Given the description of an element on the screen output the (x, y) to click on. 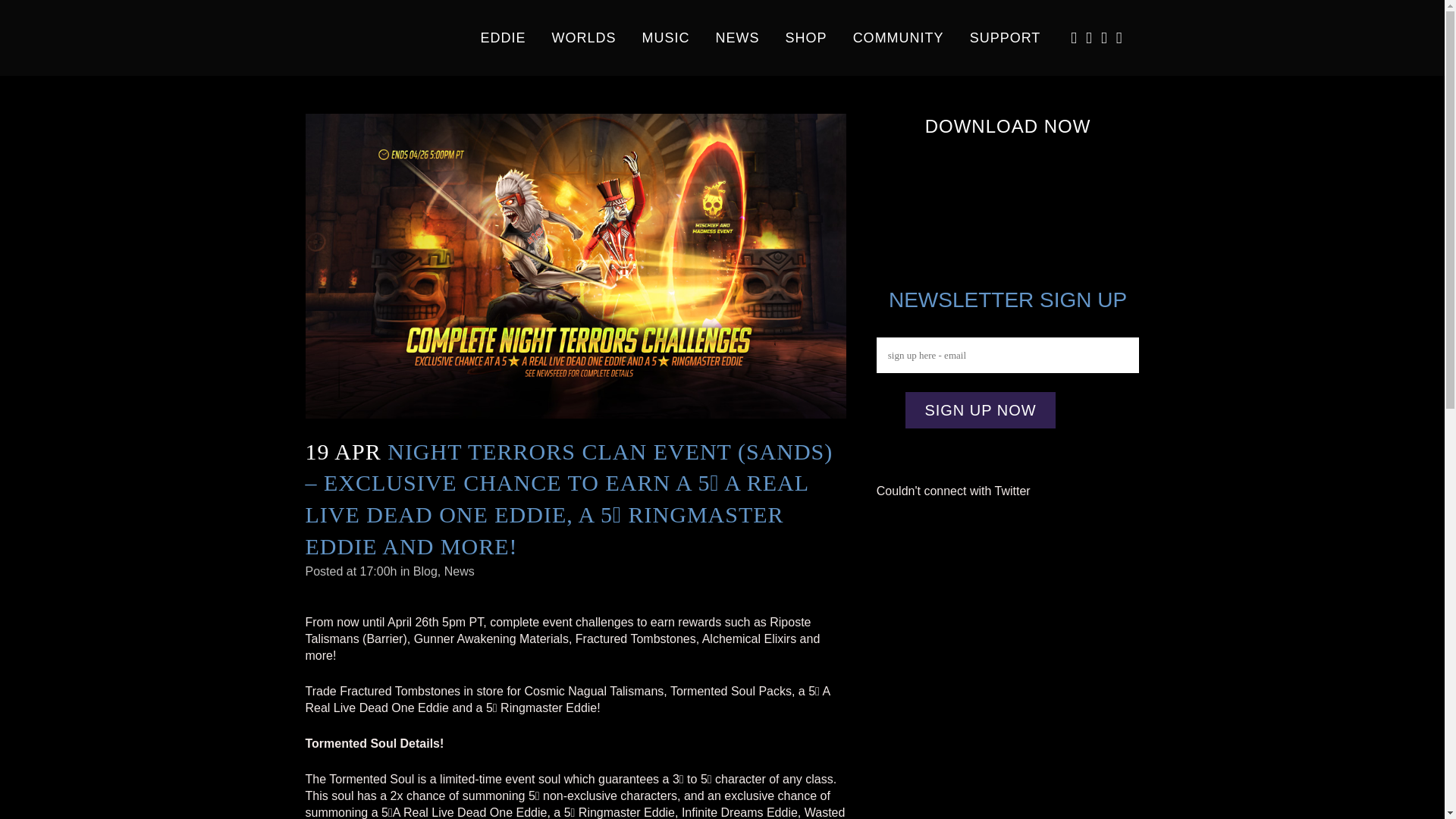
COMMUNITY (898, 38)
Sign up now (979, 410)
MUSIC (665, 38)
EDDIE (502, 38)
WORLDS (583, 38)
SHOP (806, 38)
NEWS (738, 38)
SUPPORT (1005, 38)
